Given the description of an element on the screen output the (x, y) to click on. 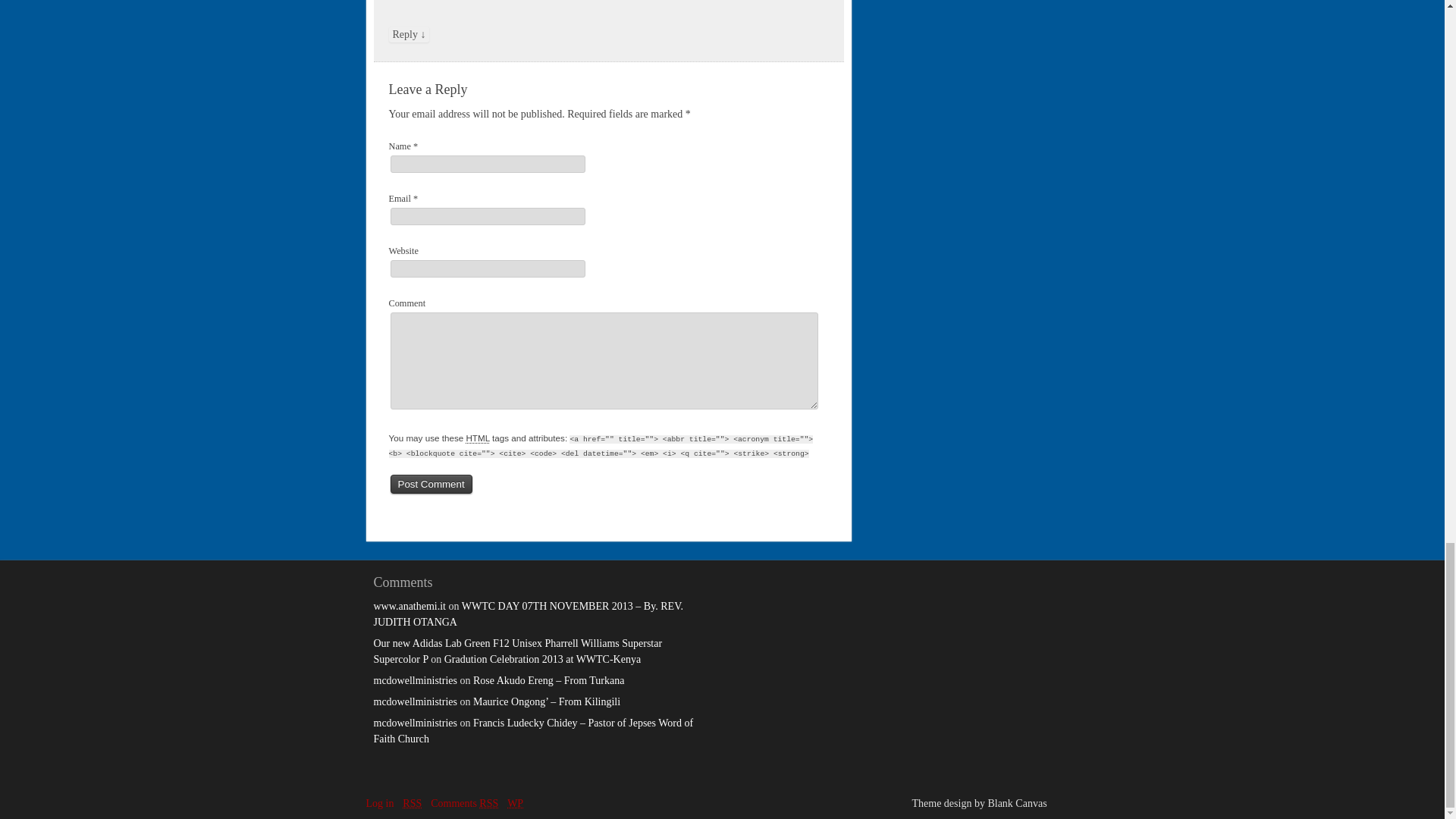
RSS (412, 803)
mcdowellministries (414, 701)
Syndicate this site using RSS (412, 803)
HyperText Markup Language (477, 438)
Post Comment (430, 484)
Log in (379, 803)
Comments RSS (463, 803)
www.anathemi.it (408, 605)
mcdowellministries (414, 680)
Gradution Celebration 2013 at WWTC-Kenya (542, 659)
WP (514, 803)
Post Comment (430, 484)
mcdowellministries (414, 722)
